Given the description of an element on the screen output the (x, y) to click on. 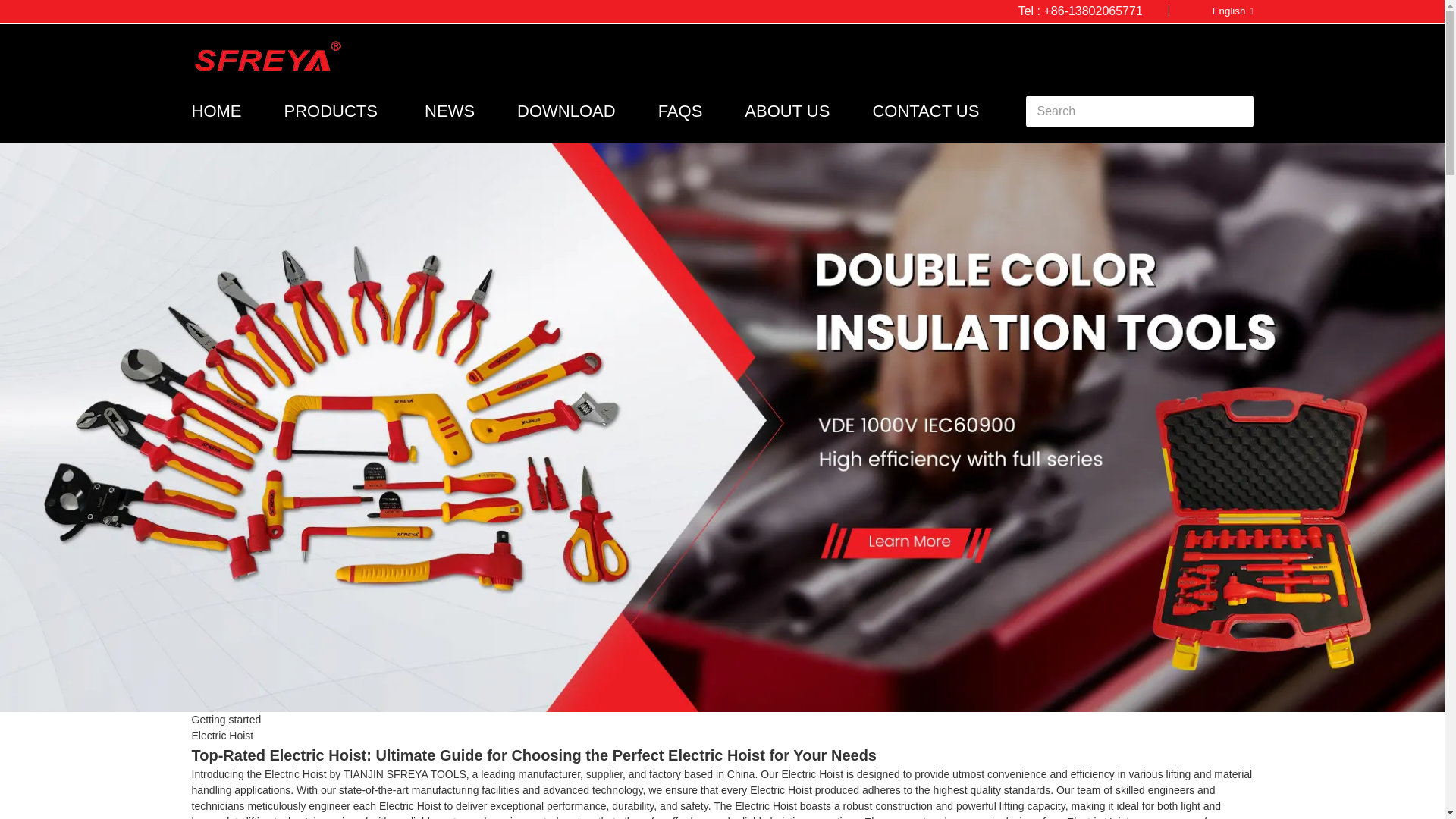
English (1220, 10)
PRODUCTS (330, 111)
HOME (215, 111)
